Given the description of an element on the screen output the (x, y) to click on. 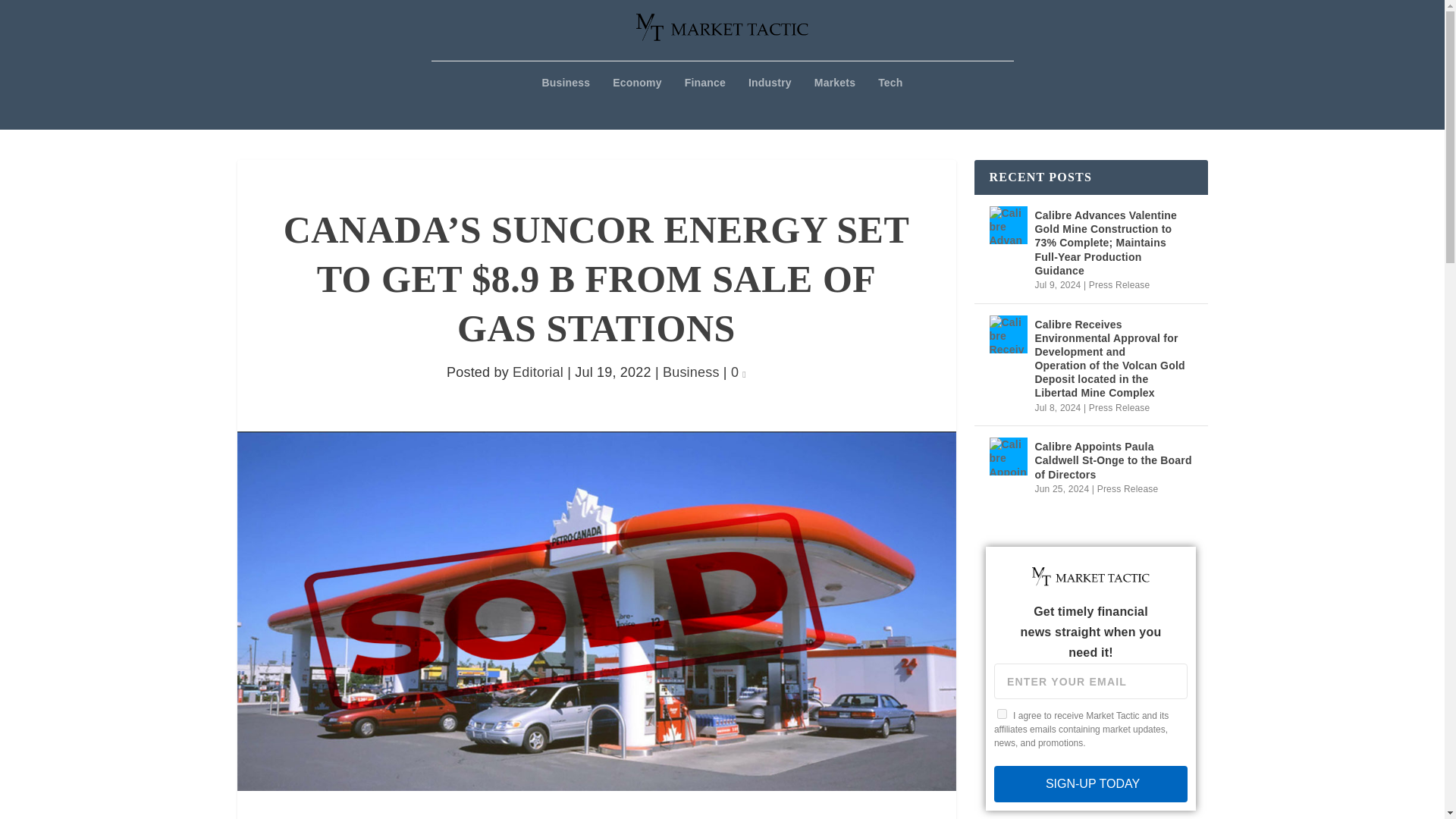
Posts by Editorial (537, 372)
Business (690, 372)
Editorial (537, 372)
Press Release (1127, 489)
Press Release (1119, 285)
on (1002, 714)
Business (565, 102)
Press Release (1119, 407)
0 (737, 372)
Economy (636, 102)
